Given the description of an element on the screen output the (x, y) to click on. 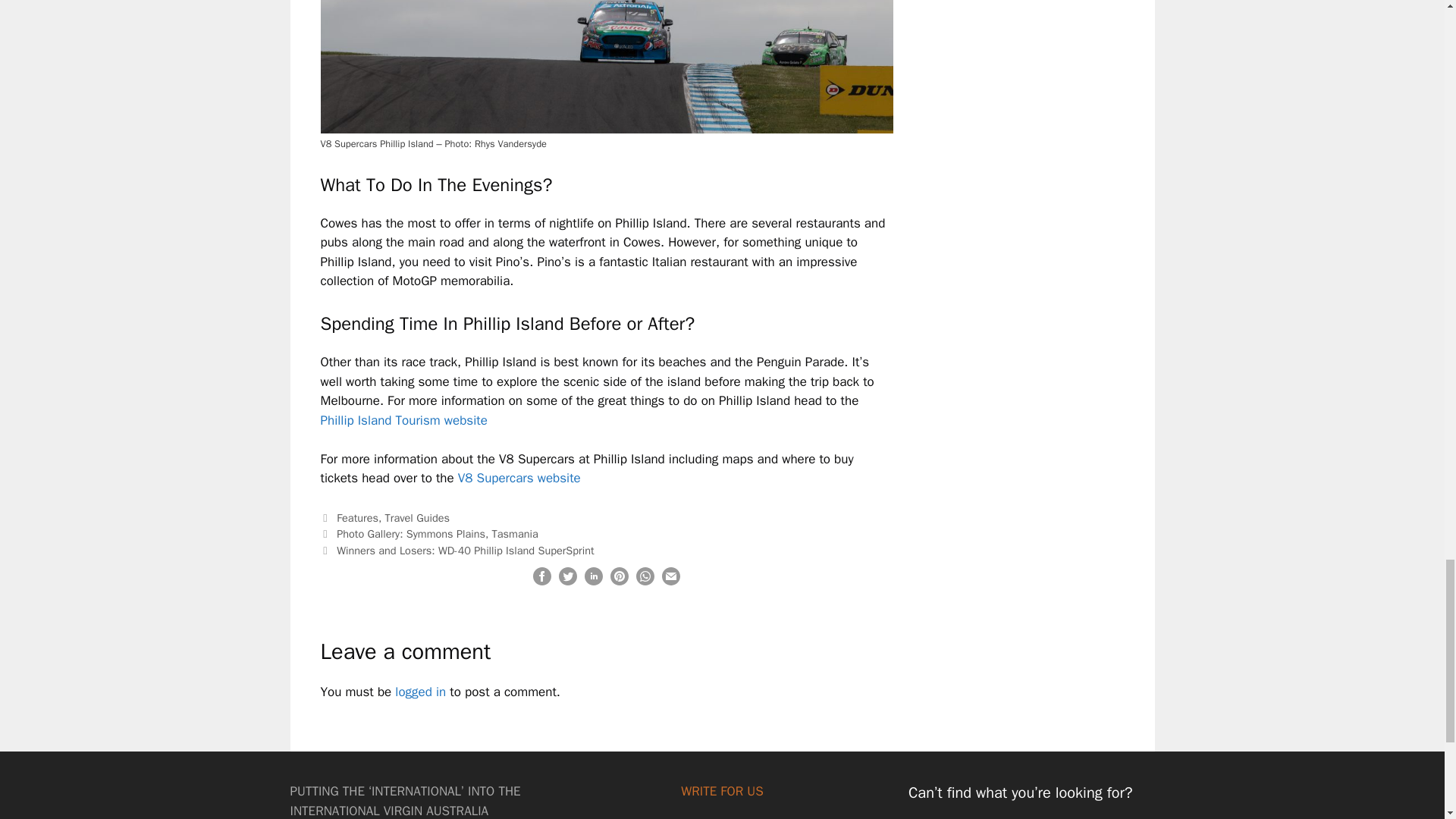
Share this post! (541, 580)
Tweet this post! (567, 580)
Email this post! (670, 580)
Pin this post! (619, 580)
Share this post! (644, 580)
Share this post! (593, 580)
